Given the description of an element on the screen output the (x, y) to click on. 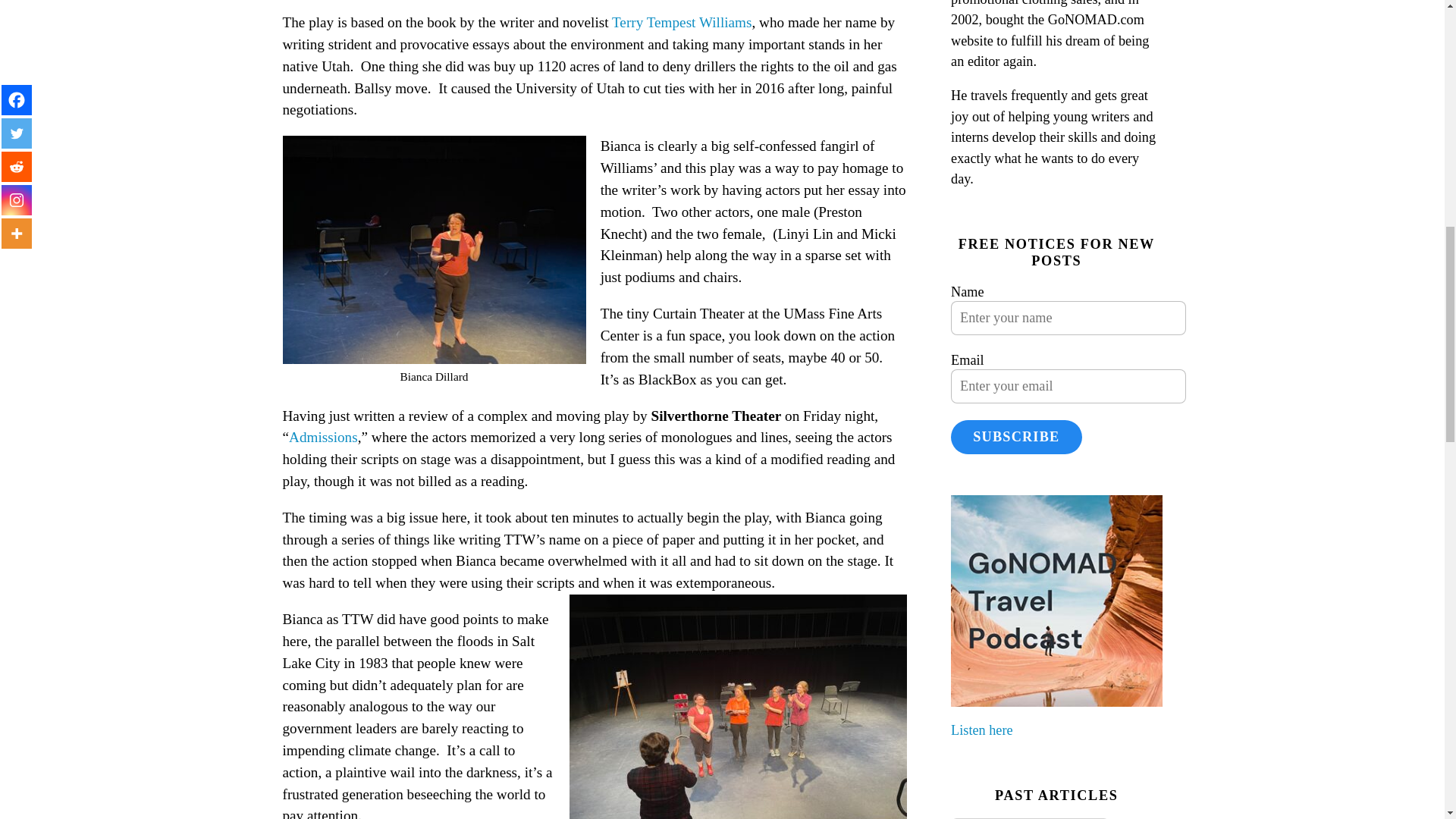
Subscribe (1015, 437)
Admissions (323, 437)
Subscribe (1015, 437)
Listen here (981, 729)
Terry Tempest Williams (681, 22)
